Given the description of an element on the screen output the (x, y) to click on. 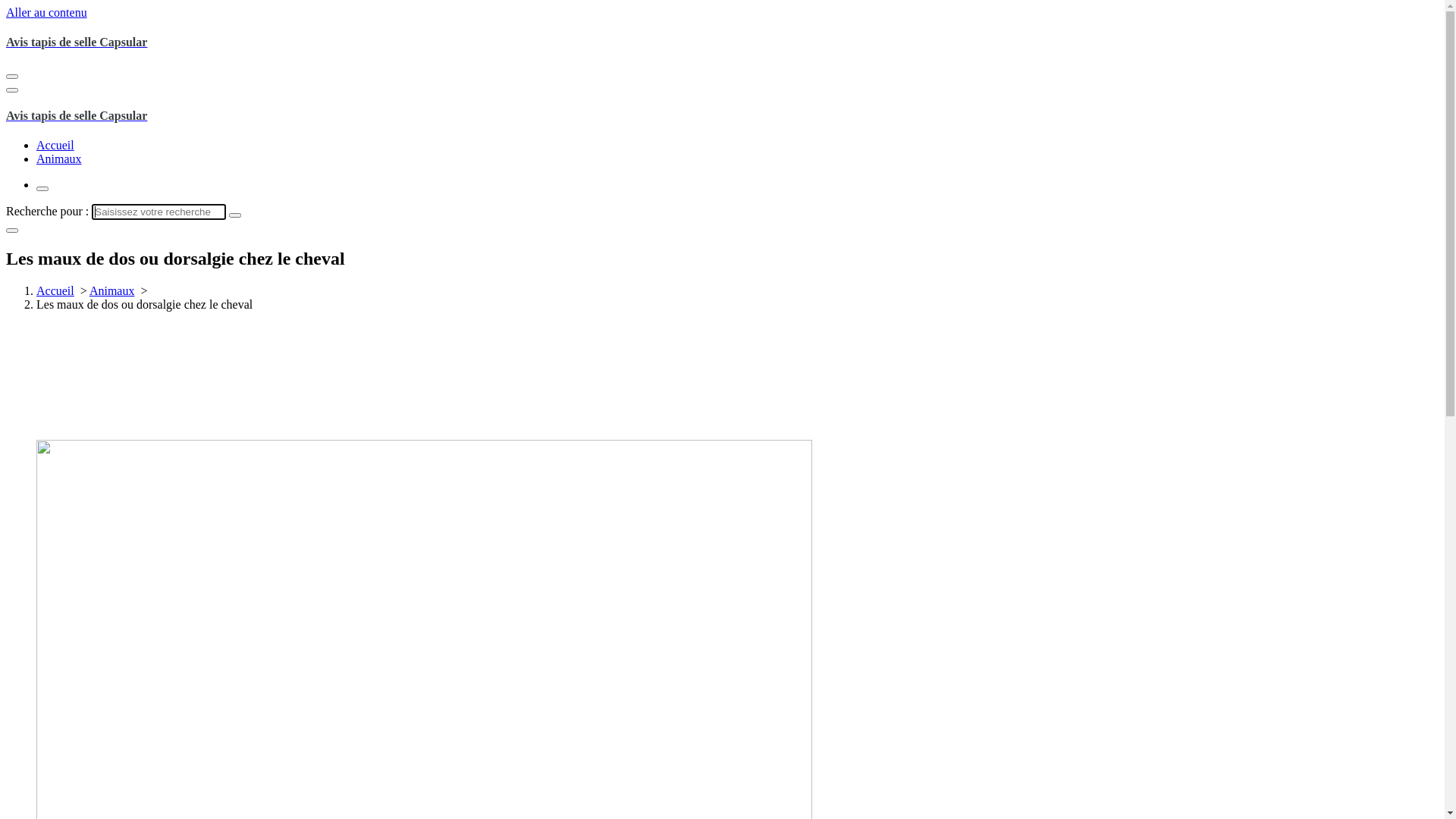
Animaux Element type: text (111, 290)
Accueil Element type: text (55, 144)
Avis tapis de selle Capsular Element type: text (722, 42)
Aller au contenu Element type: text (46, 12)
Animaux Element type: text (58, 158)
Accueil Element type: text (55, 290)
Avis tapis de selle Capsular Element type: text (722, 115)
